Given the description of an element on the screen output the (x, y) to click on. 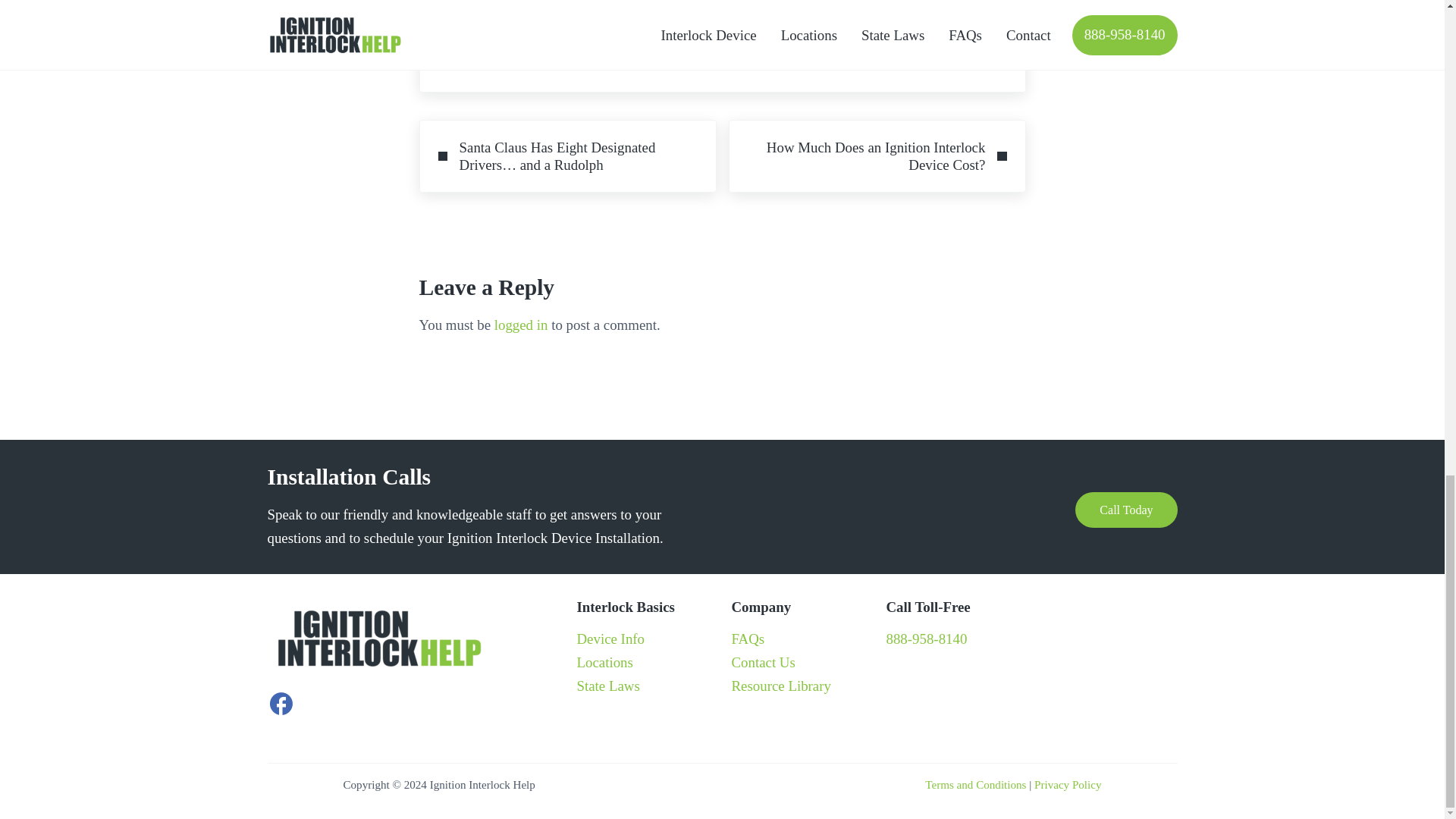
Resource Library (779, 685)
Device Info (610, 638)
Privacy Policy (1066, 784)
Locations (603, 662)
State Laws (607, 685)
FAQs (747, 638)
logged in (521, 324)
Call Today (1125, 509)
888-958-8140 (925, 638)
Contact Us (762, 662)
